Given the description of an element on the screen output the (x, y) to click on. 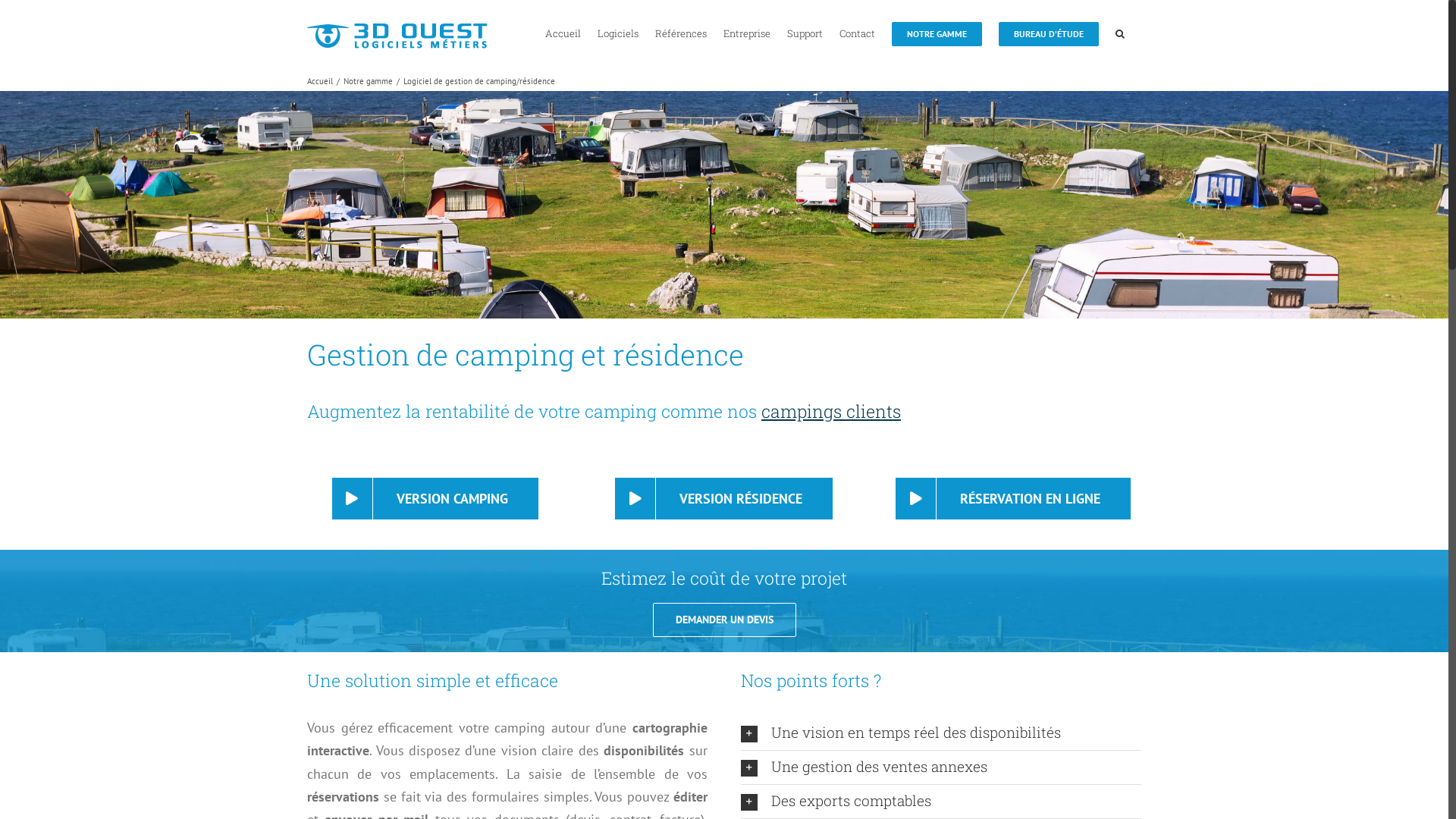
campings clients Element type: text (830, 410)
Contact Element type: text (857, 32)
Entreprise Element type: text (746, 32)
Accueil Element type: text (562, 32)
DEMANDER UN DEVIS Element type: text (723, 619)
Accueil Element type: text (319, 80)
Support Element type: text (804, 32)
Une gestion des ventes annexes Element type: text (940, 767)
Recherche Element type: hover (1119, 32)
VERSION CAMPING Element type: text (435, 498)
Logiciels Element type: text (617, 32)
Des exports comptables Element type: text (940, 801)
NOTRE GAMME Element type: text (936, 32)
Notre gamme Element type: text (367, 80)
